Given the description of an element on the screen output the (x, y) to click on. 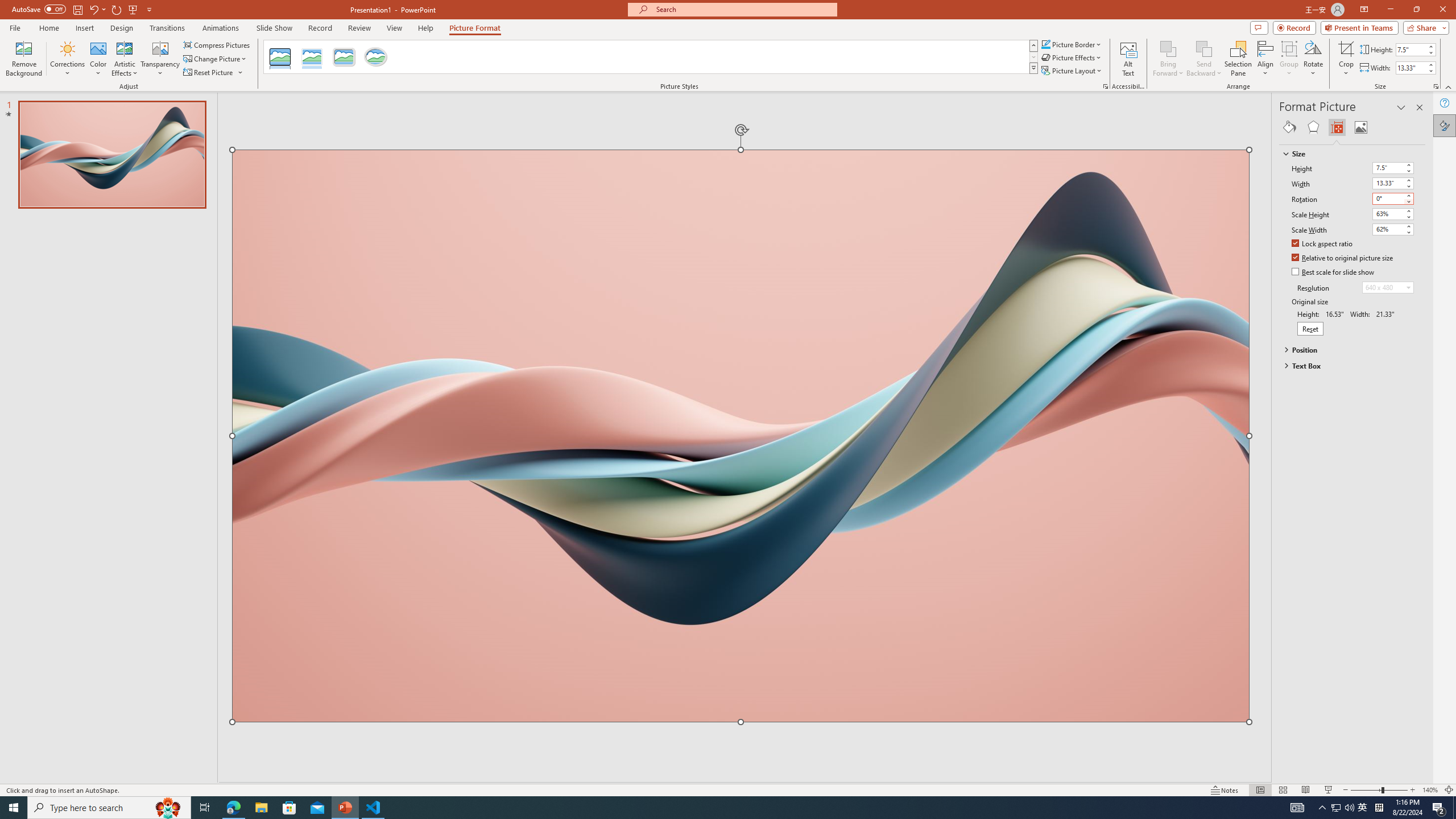
Best scale for slide show (1333, 272)
AutomationID: PictureStylesGallery (650, 56)
Rotation (1393, 198)
Send Backward (1204, 48)
Reset Picture (214, 72)
Scale Height (1388, 213)
Width (1393, 183)
Reflected Bevel, White (312, 56)
Rotation (1388, 198)
Width (1388, 182)
